Given the description of an element on the screen output the (x, y) to click on. 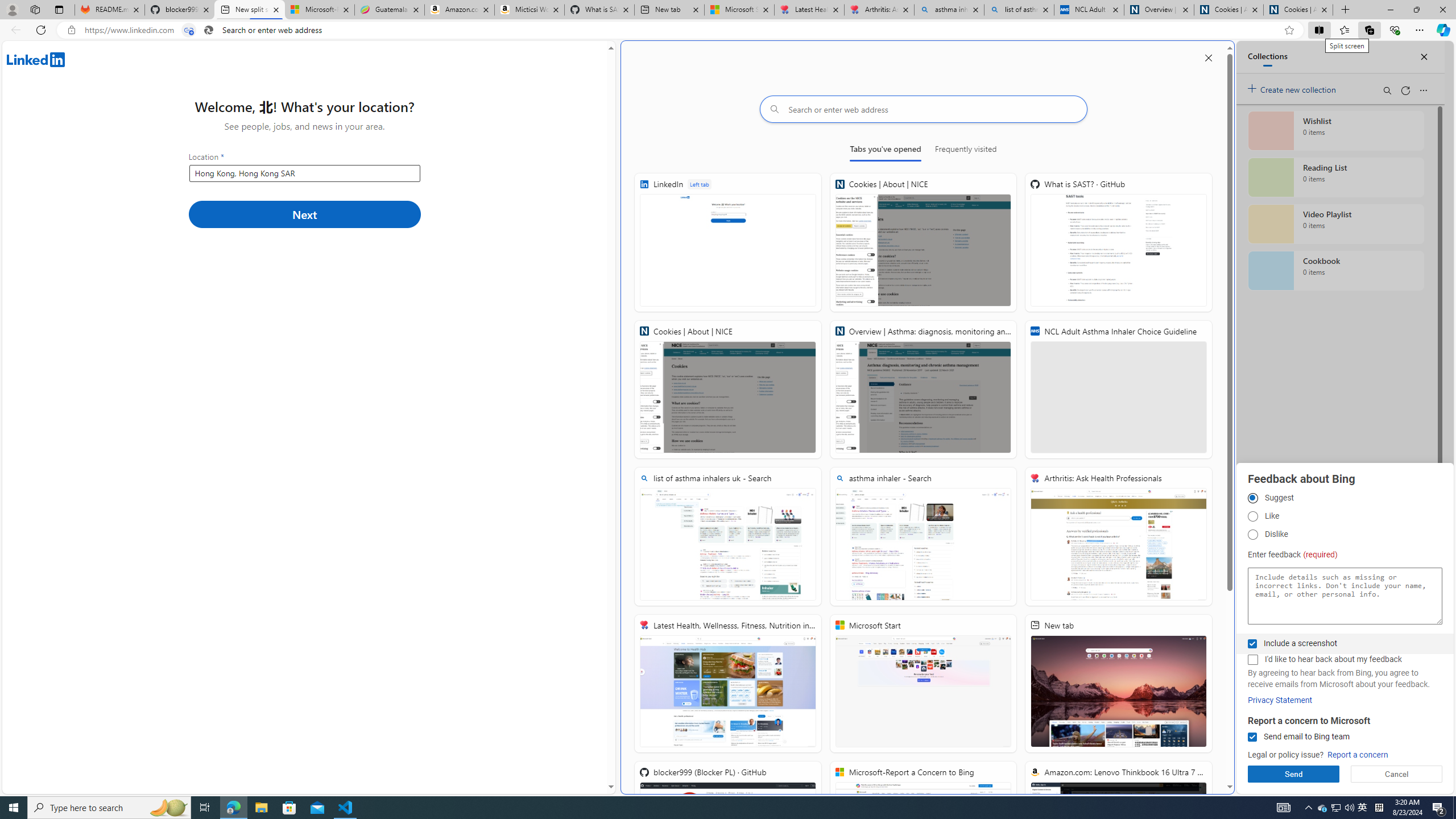
Include a screenshot (1251, 643)
Privacy Statement (1280, 700)
Report a concern (1358, 755)
Tabs you've opened (885, 151)
